Given the description of an element on the screen output the (x, y) to click on. 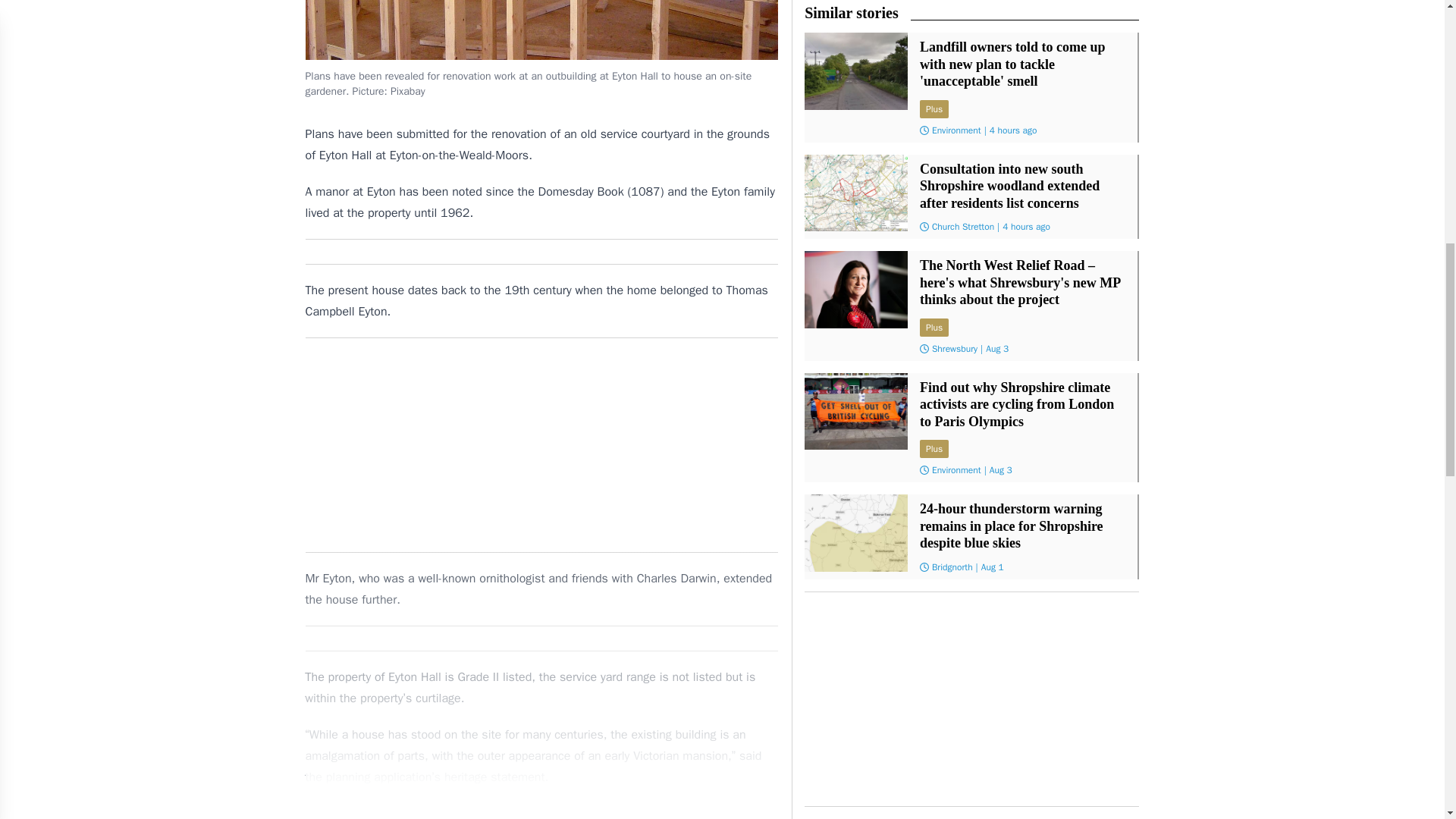
Bridgnorth (951, 567)
Environment (956, 469)
Environment (956, 130)
Church Stretton (962, 226)
Shrewsbury (953, 348)
